Given the description of an element on the screen output the (x, y) to click on. 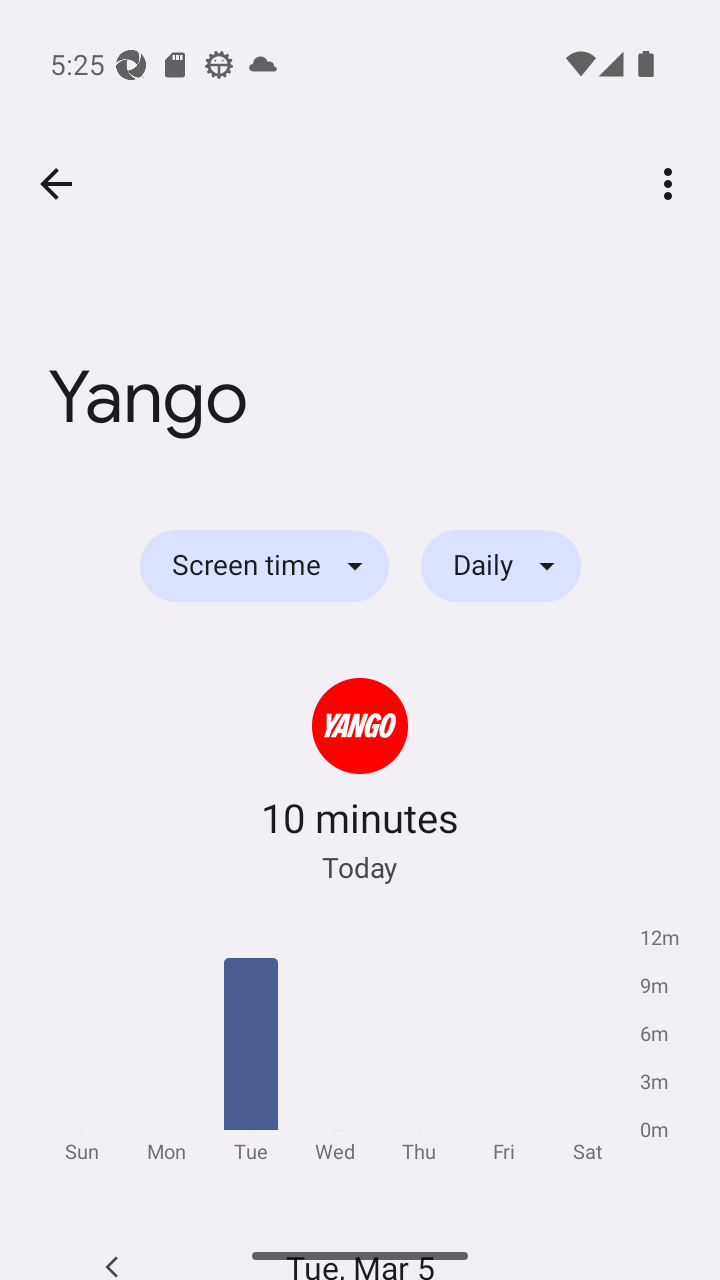
Navigate up (56, 184)
More options (672, 183)
Screen time (263, 566)
Daily (501, 566)
Go to the previous day (111, 1249)
